Given the description of an element on the screen output the (x, y) to click on. 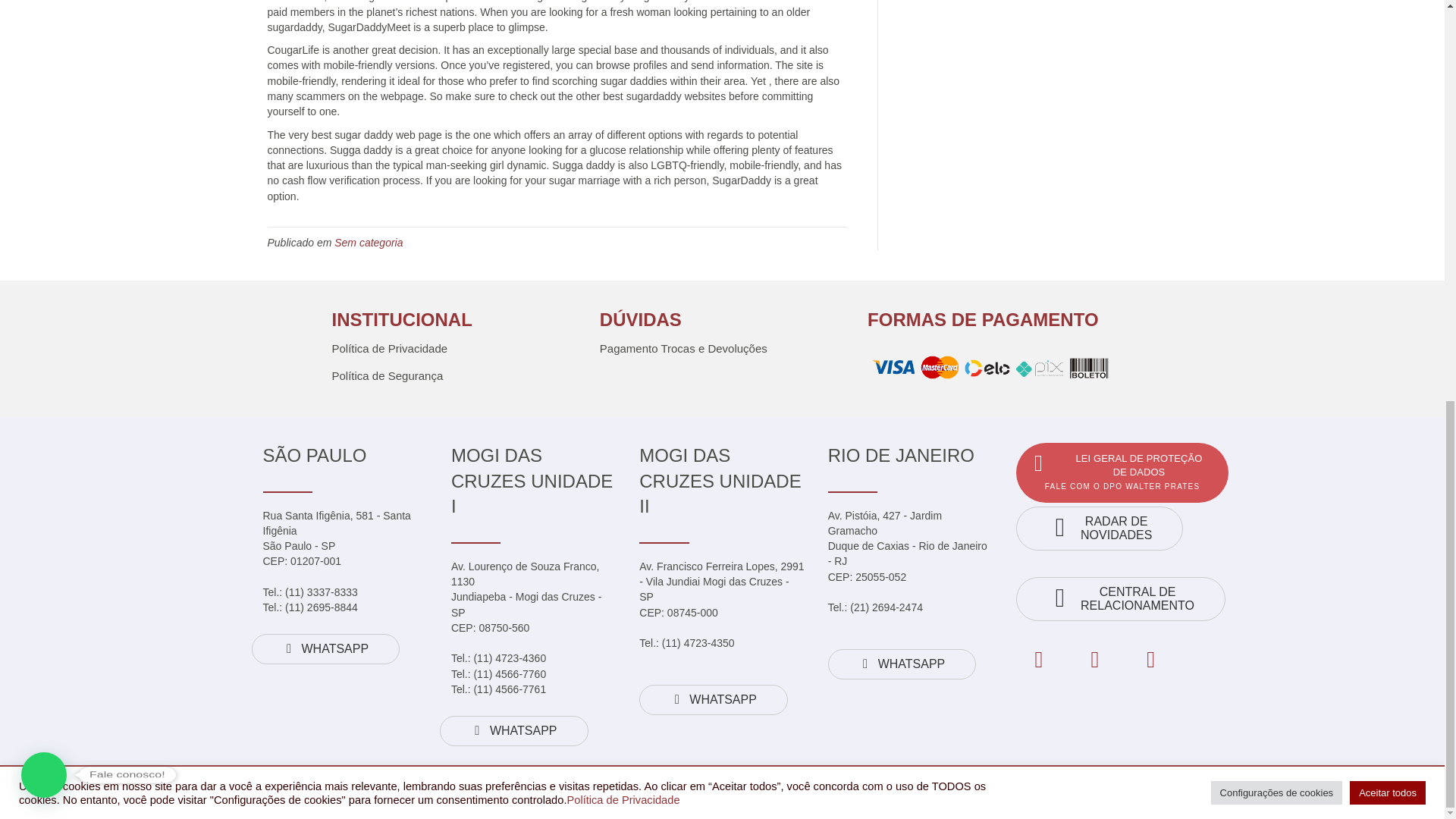
pagamento (989, 369)
Instagram (1094, 659)
YouTube (1150, 659)
Facebook (1038, 659)
